Given the description of an element on the screen output the (x, y) to click on. 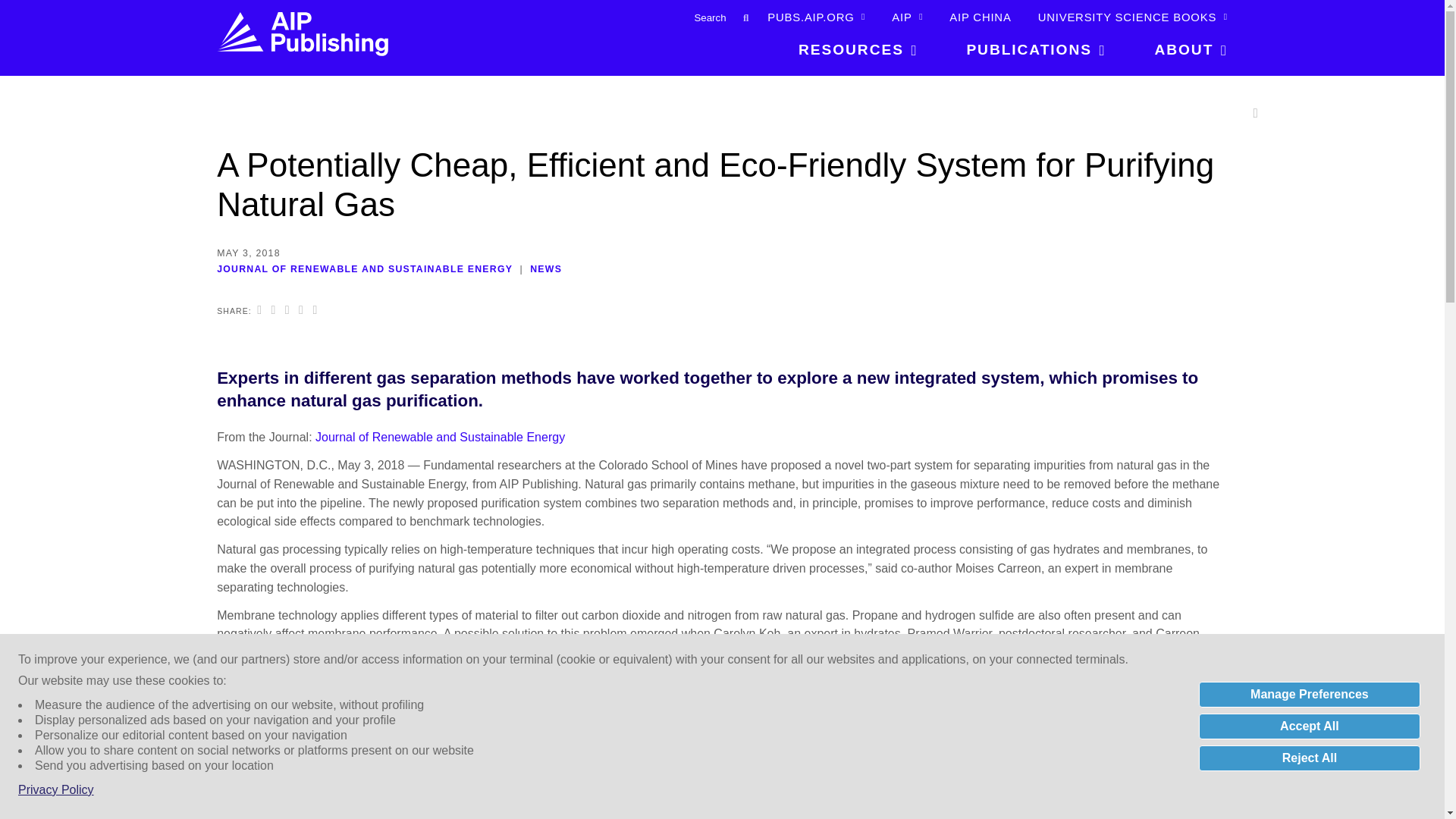
ABOUT (1178, 55)
Search (694, 17)
UNIVERSITY SCIENCE BOOKS (1132, 17)
Privacy Policy (55, 789)
AIP (907, 17)
Submit Search (745, 17)
Accept All (1309, 726)
Reject All (1309, 758)
AIP CHINA (979, 17)
PUBS.AIP.ORG (815, 17)
RESOURCES (858, 55)
PUBLICATIONS (1035, 55)
Manage Preferences (1309, 694)
